Given the description of an element on the screen output the (x, y) to click on. 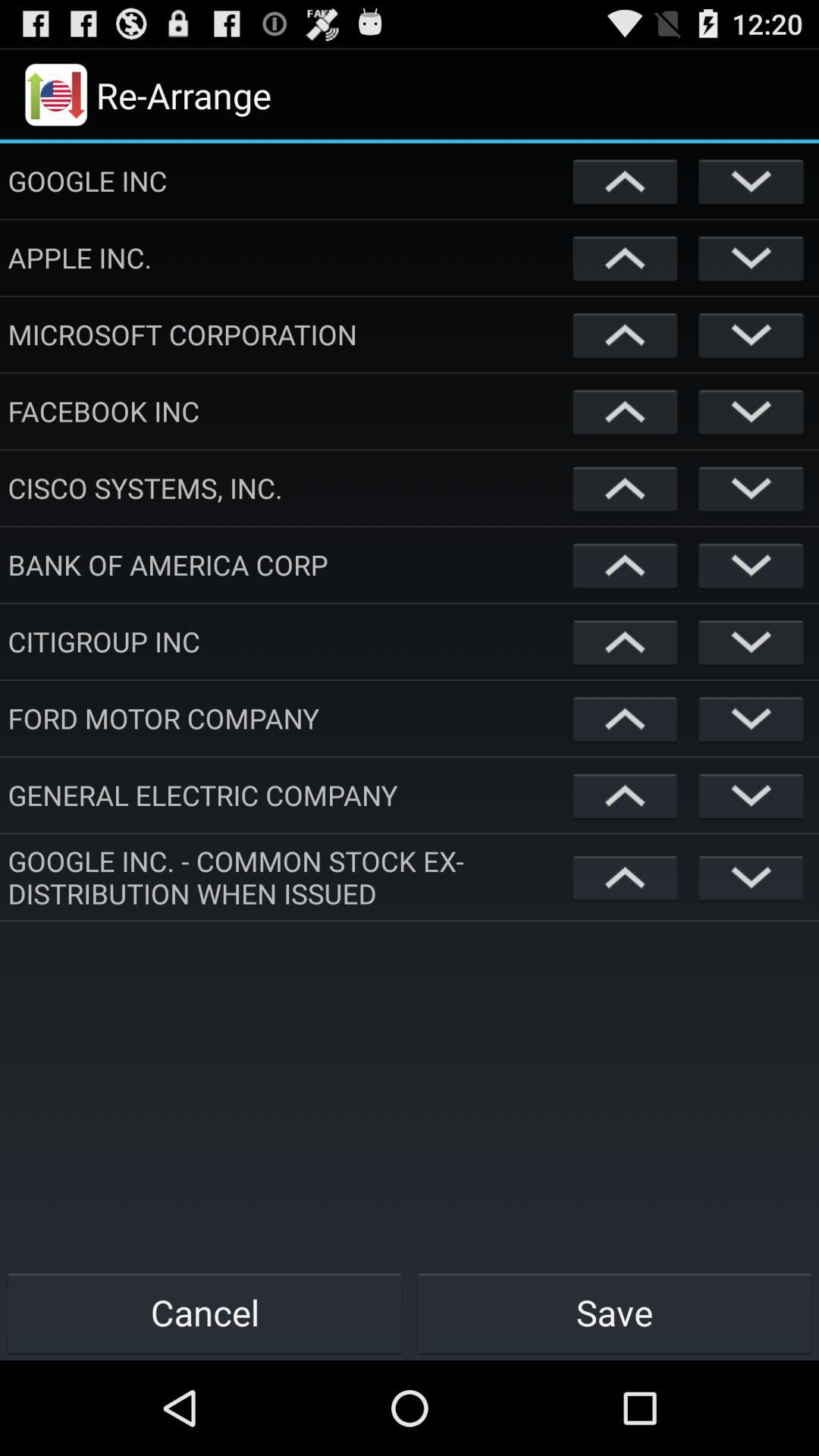
select the general electric company app (286, 794)
